Given the description of an element on the screen output the (x, y) to click on. 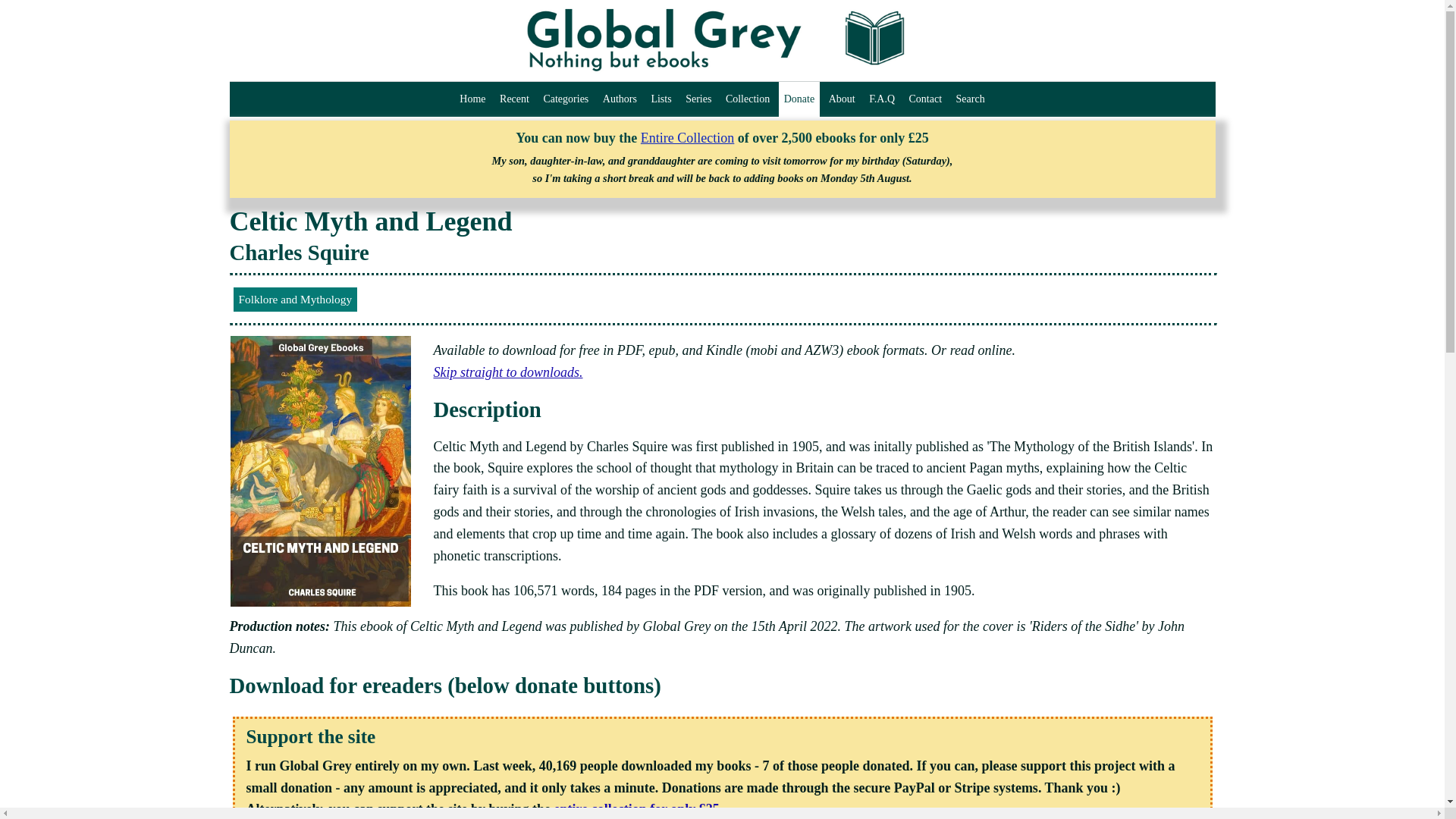
Folklore and Mythology (295, 299)
Lists (661, 99)
Donate (798, 99)
Series (697, 99)
Contact (925, 99)
Skip straight to downloads. (508, 372)
F.A.Q (881, 99)
About (842, 99)
Authors (619, 99)
Collection (747, 99)
